Given the description of an element on the screen output the (x, y) to click on. 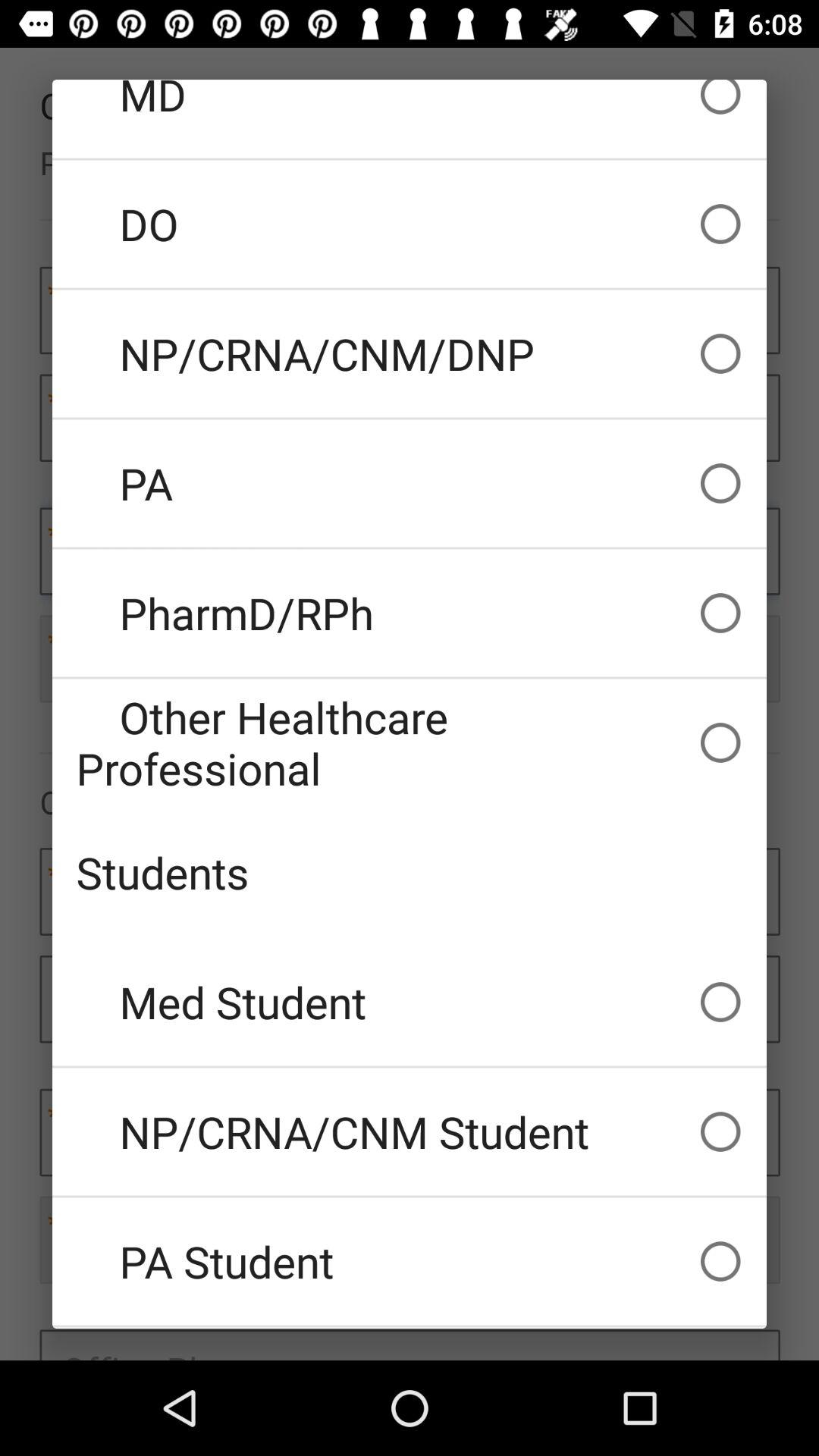
choose the item above     other healthcare professional icon (409, 612)
